Given the description of an element on the screen output the (x, y) to click on. 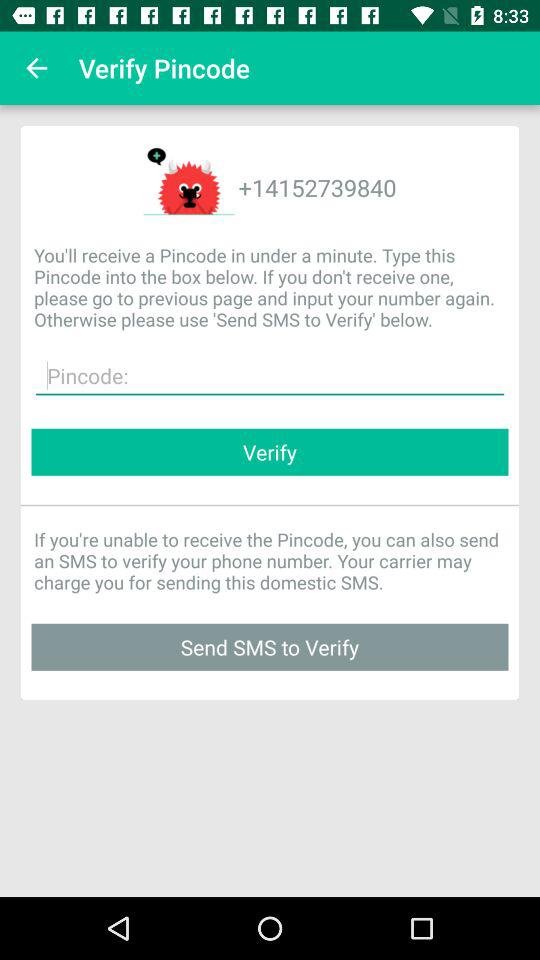
launch the app next to verify pincode (36, 68)
